Given the description of an element on the screen output the (x, y) to click on. 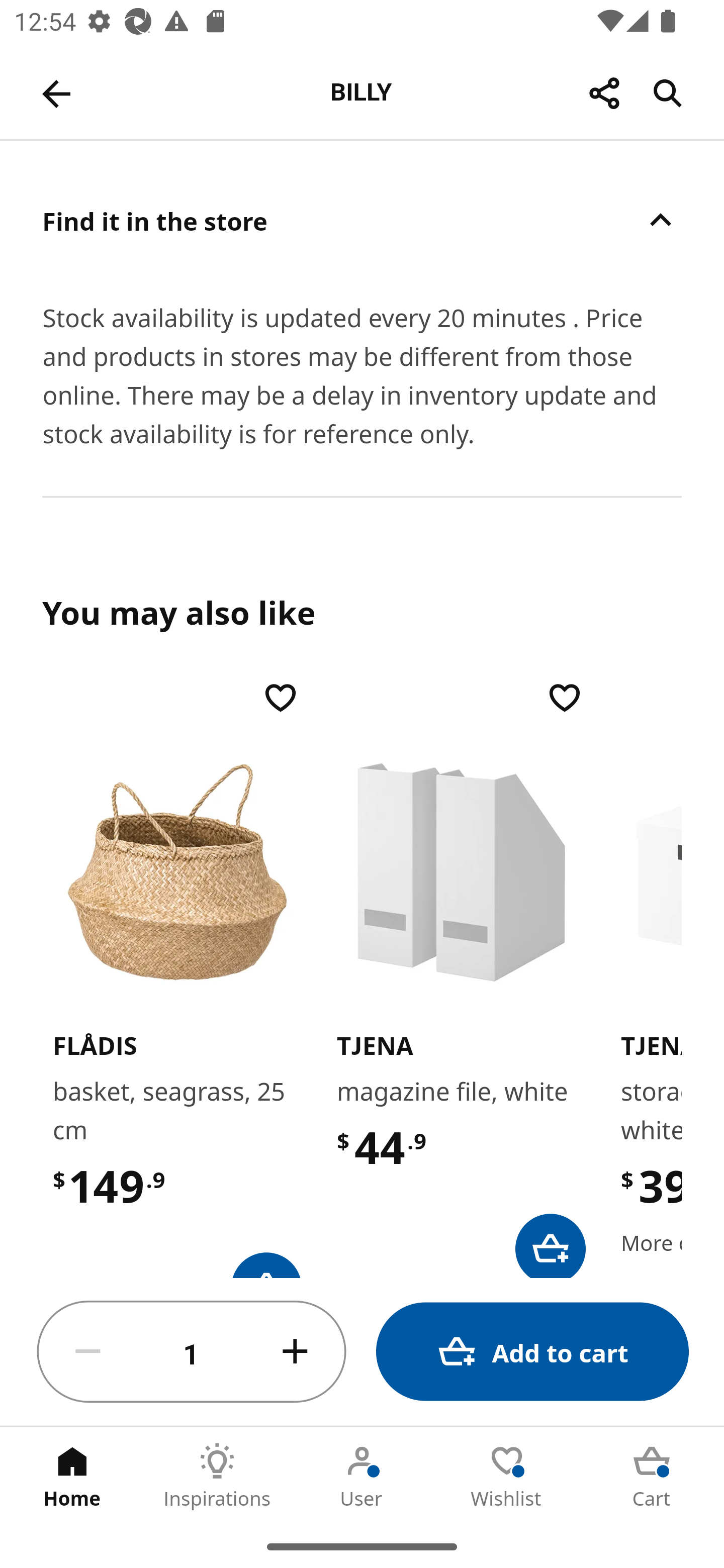
Find it in the store (361, 219)
​F​L​Å​D​I​S​
basket, seagrass, 25 cm
$
149
.9 (176, 977)
​T​J​E​N​A​
magazine file, white
$
44
.9 (460, 977)
Add to cart (531, 1352)
1 (191, 1352)
Home
Tab 1 of 5 (72, 1476)
Inspirations
Tab 2 of 5 (216, 1476)
User
Tab 3 of 5 (361, 1476)
Wishlist
Tab 4 of 5 (506, 1476)
Cart
Tab 5 of 5 (651, 1476)
